Given the description of an element on the screen output the (x, y) to click on. 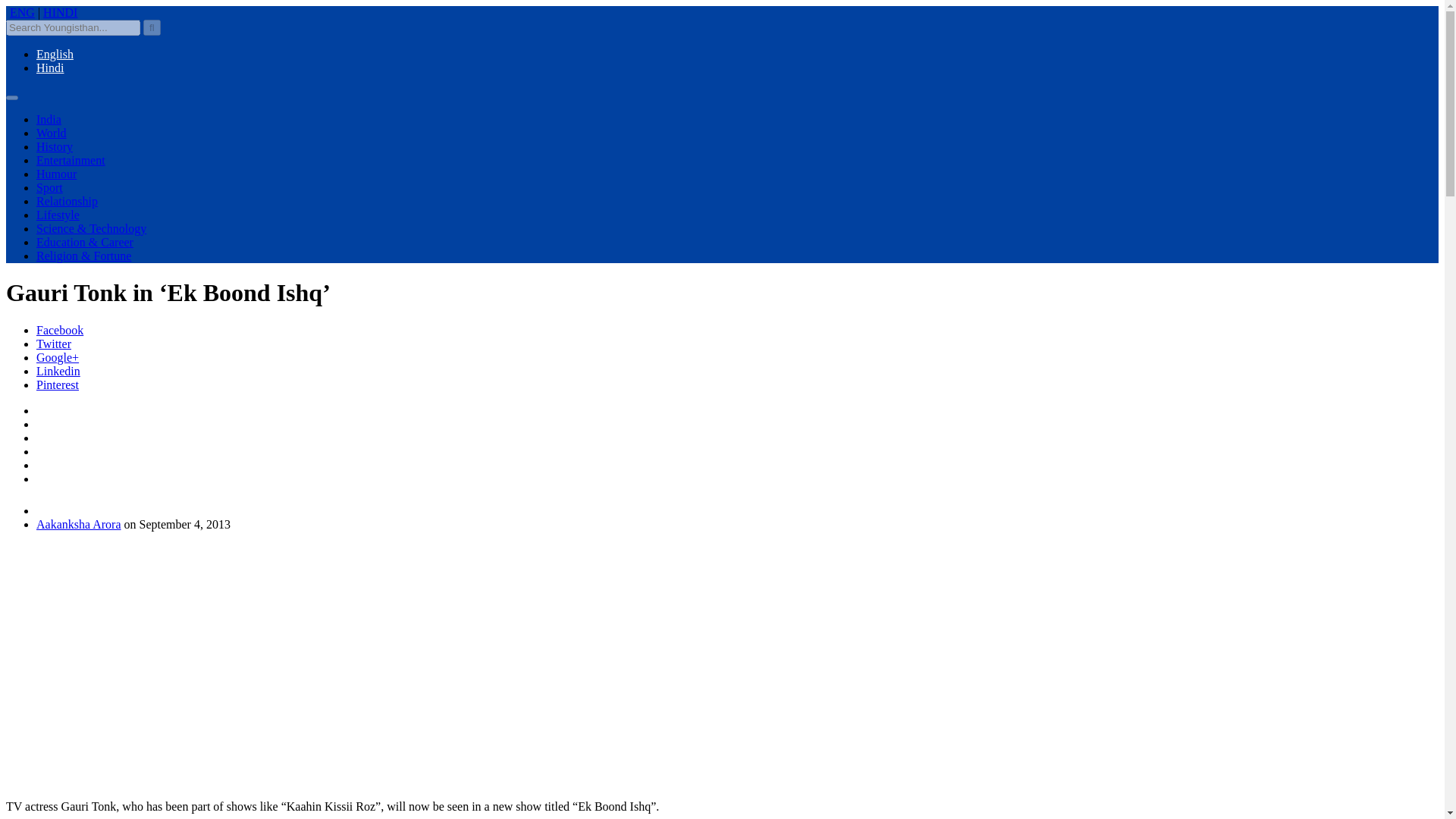
ENG (22, 11)
Linkedin (58, 370)
Lifestyle (58, 214)
HINDI (60, 11)
Twitter (53, 343)
Entertainment (70, 160)
History (54, 146)
Facebook (59, 329)
Aakanksha Arora (78, 523)
India (48, 119)
Sport (49, 187)
Posts by Aakanksha  Arora (78, 523)
Relationship (66, 201)
Humour (56, 173)
World (51, 132)
